Given the description of an element on the screen output the (x, y) to click on. 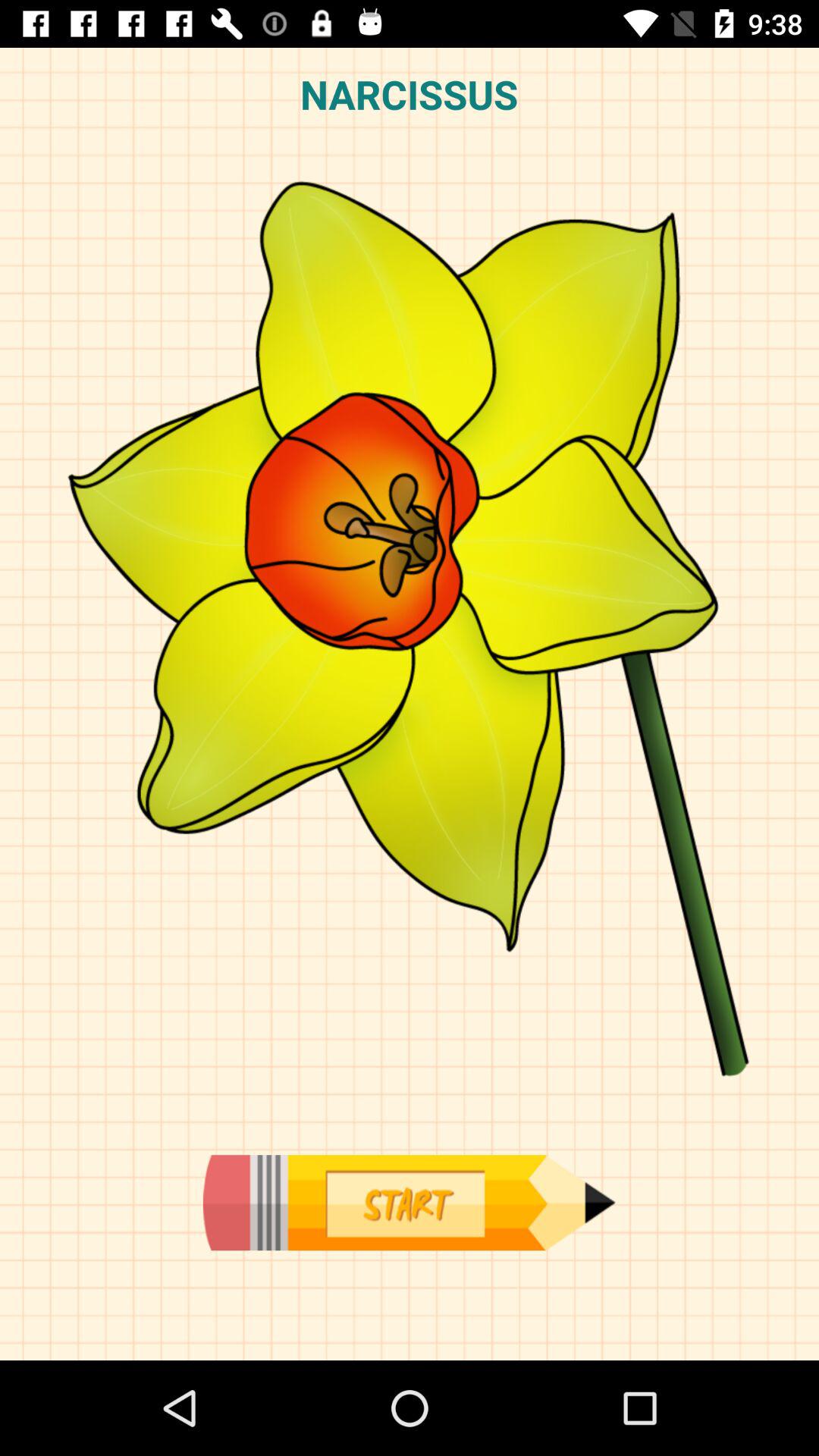
start now (409, 1202)
